Given the description of an element on the screen output the (x, y) to click on. 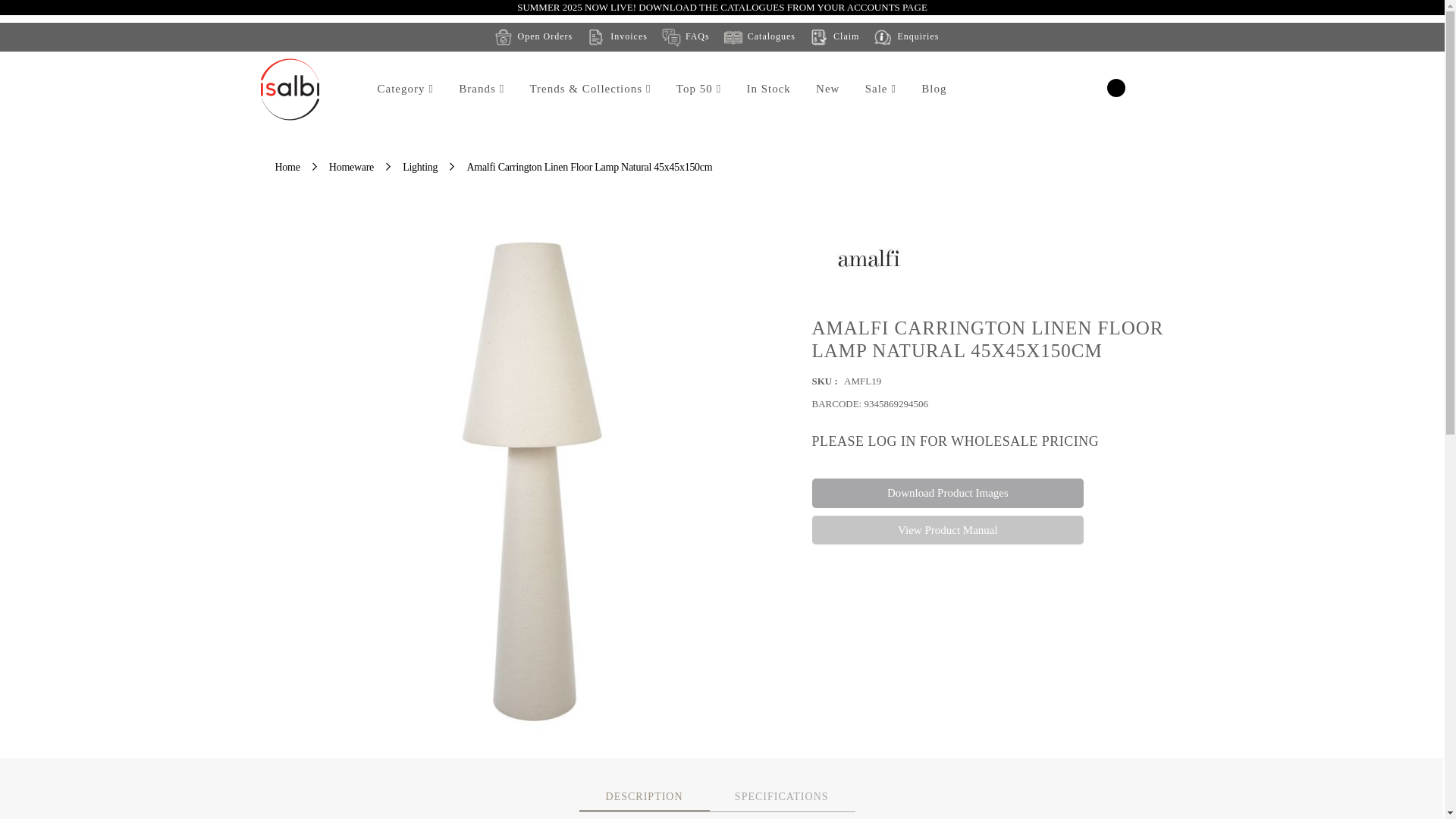
FAQs (685, 35)
Category (404, 89)
Invoices (616, 35)
Brands (480, 89)
Claim (833, 35)
Enquiries (905, 35)
Open Orders (533, 35)
Catalogues (758, 35)
